Given the description of an element on the screen output the (x, y) to click on. 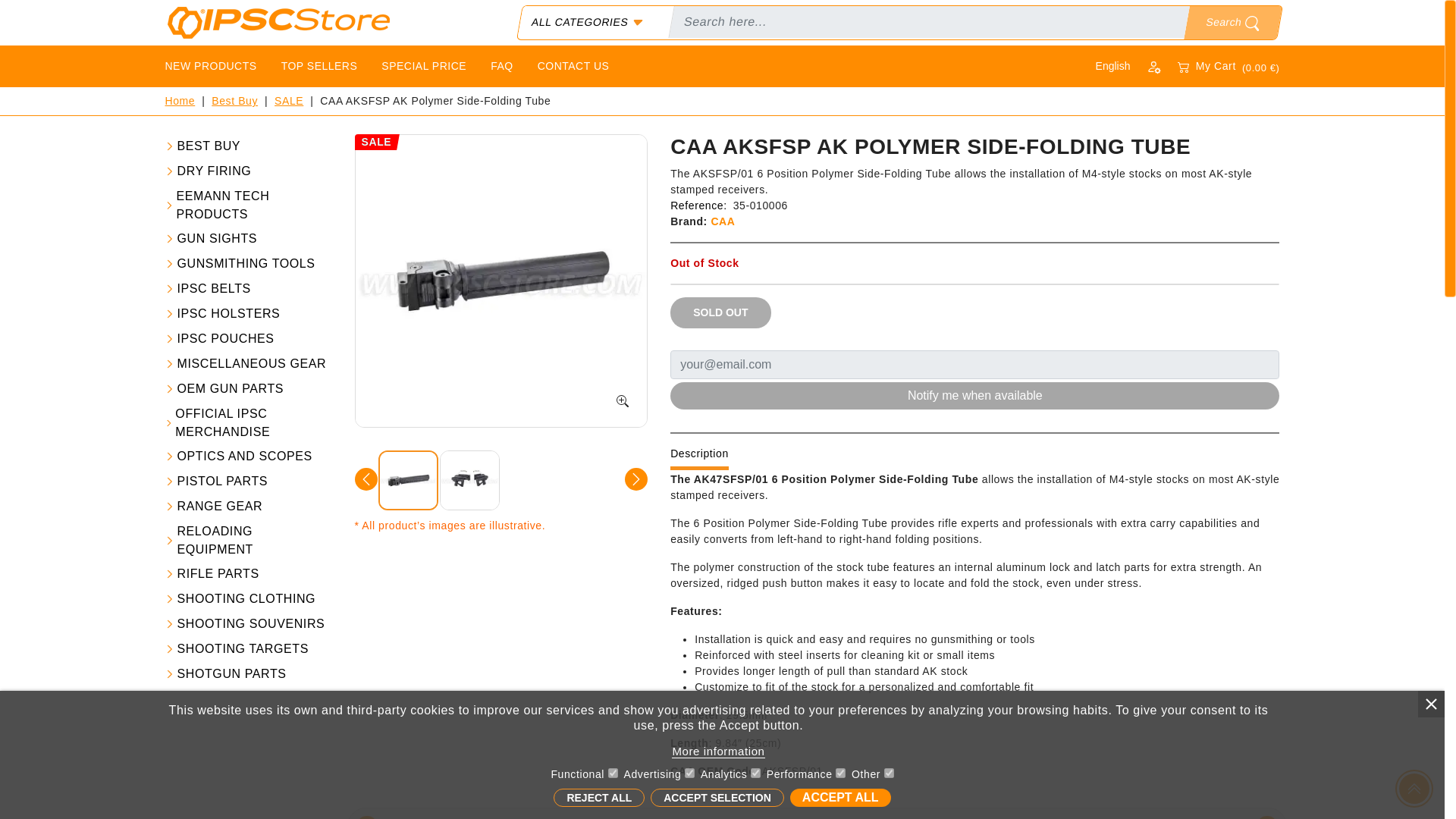
Search (1230, 22)
on (755, 773)
CAA AK47SFSP AK Polymer Side-Folding Tube (407, 480)
on (840, 773)
on (689, 773)
ALL CATEGORIES (592, 21)
CAA AK47SFSP AK Polymer Side-Folding Tube (469, 480)
on (888, 773)
CAA AK47SFSP AK Polymer Side-Folding Tube (500, 280)
on (612, 773)
